Given the description of an element on the screen output the (x, y) to click on. 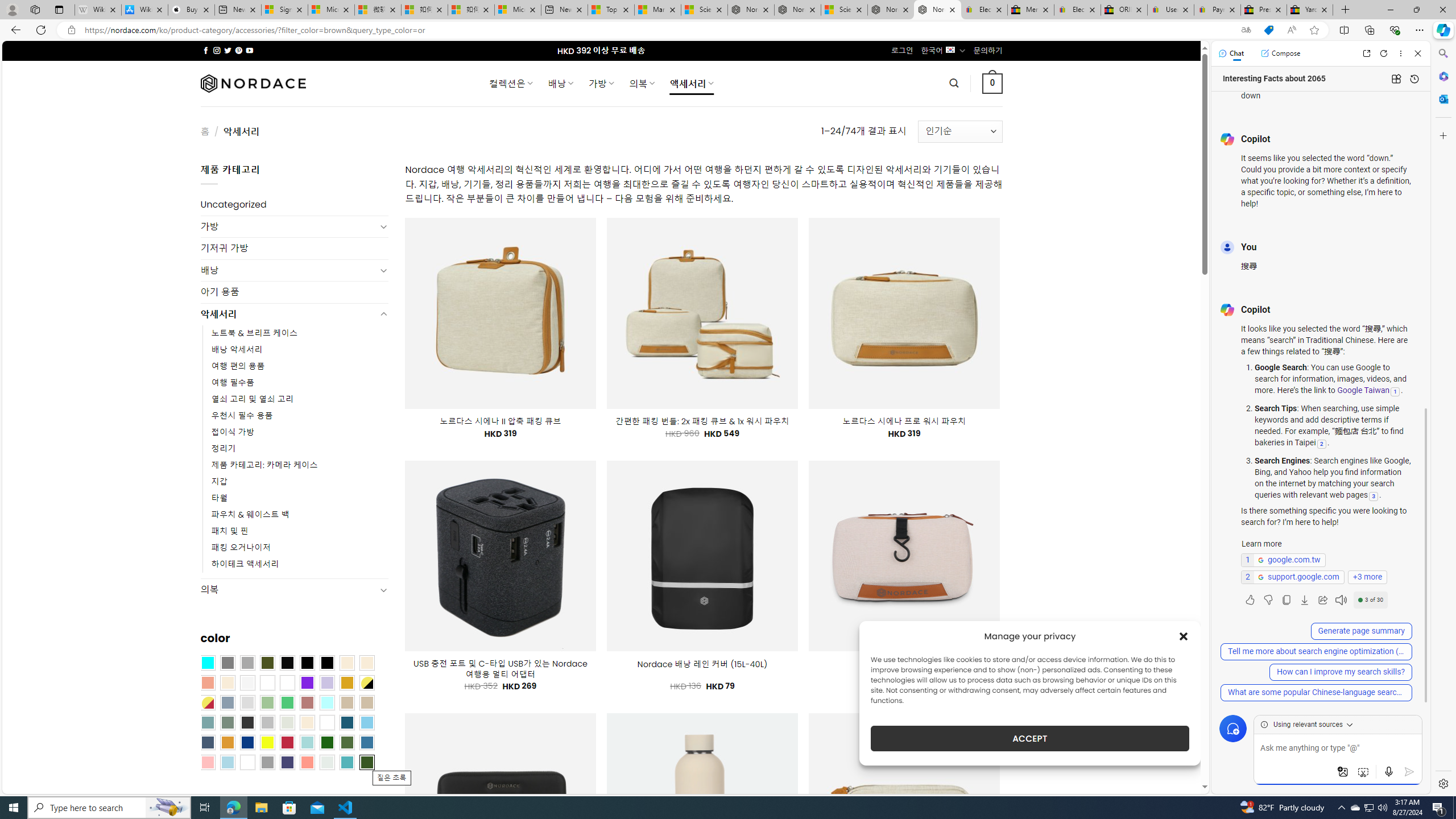
Uncategorized (294, 204)
Marine life - MSN (656, 9)
